Given the description of an element on the screen output the (x, y) to click on. 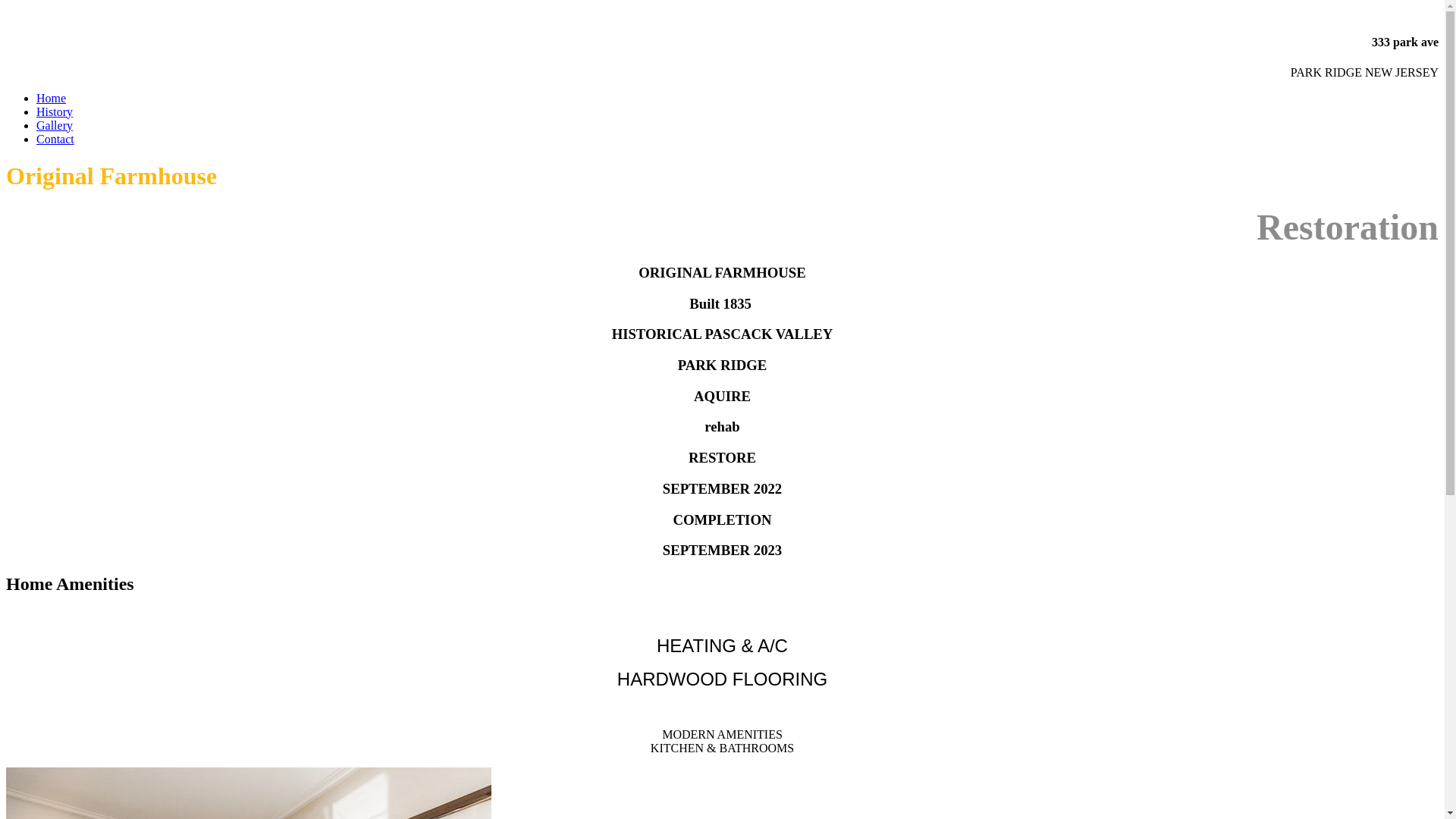
Home Element type: text (50, 97)
Contact Element type: text (55, 138)
History Element type: text (54, 111)
Gallery Element type: text (54, 125)
